Given the description of an element on the screen output the (x, y) to click on. 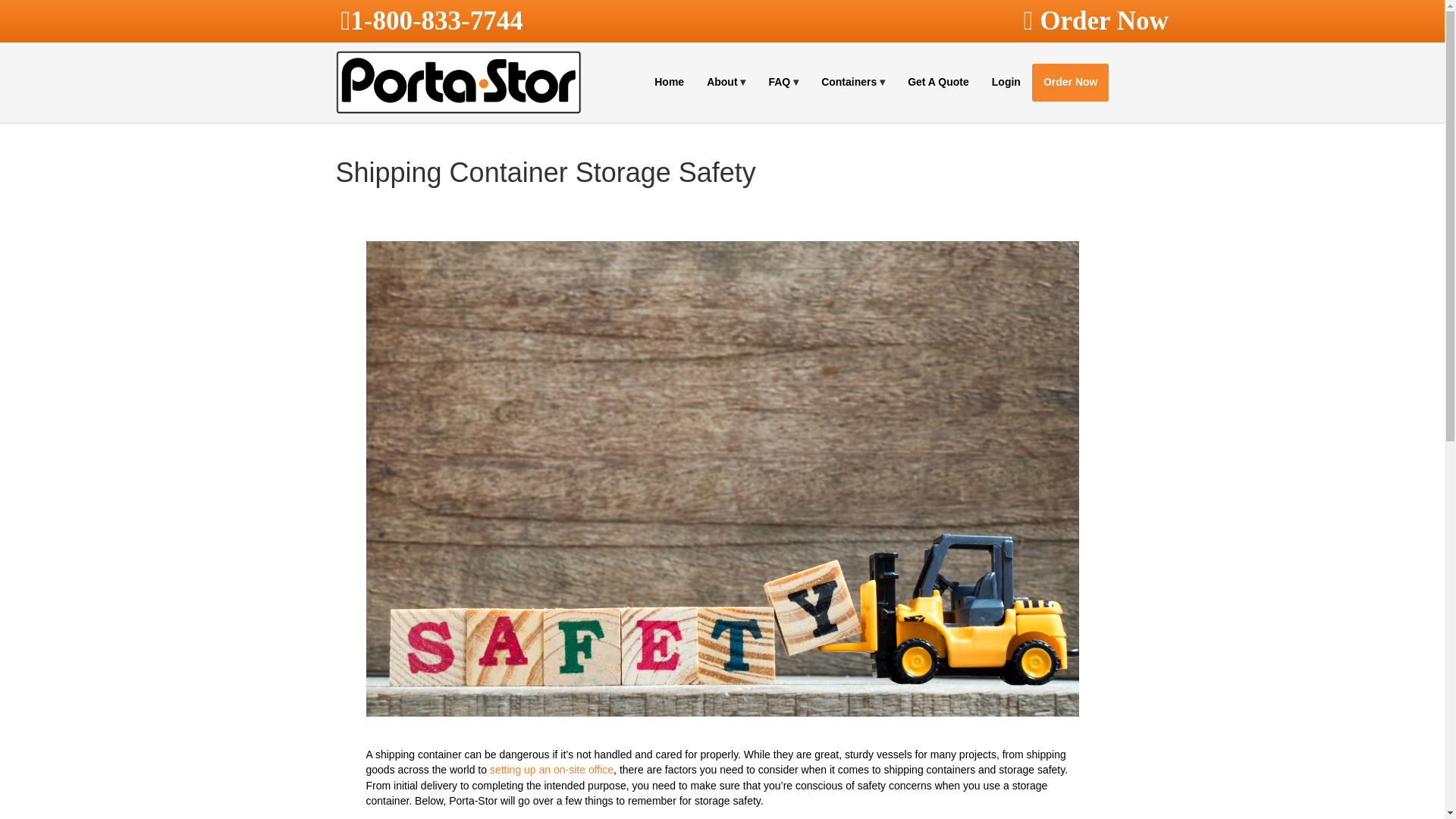
Home (669, 82)
1-800-833-7744 (436, 20)
About (726, 82)
Containers (852, 82)
FAQ (783, 82)
 Order Now (1183, 26)
